Given the description of an element on the screen output the (x, y) to click on. 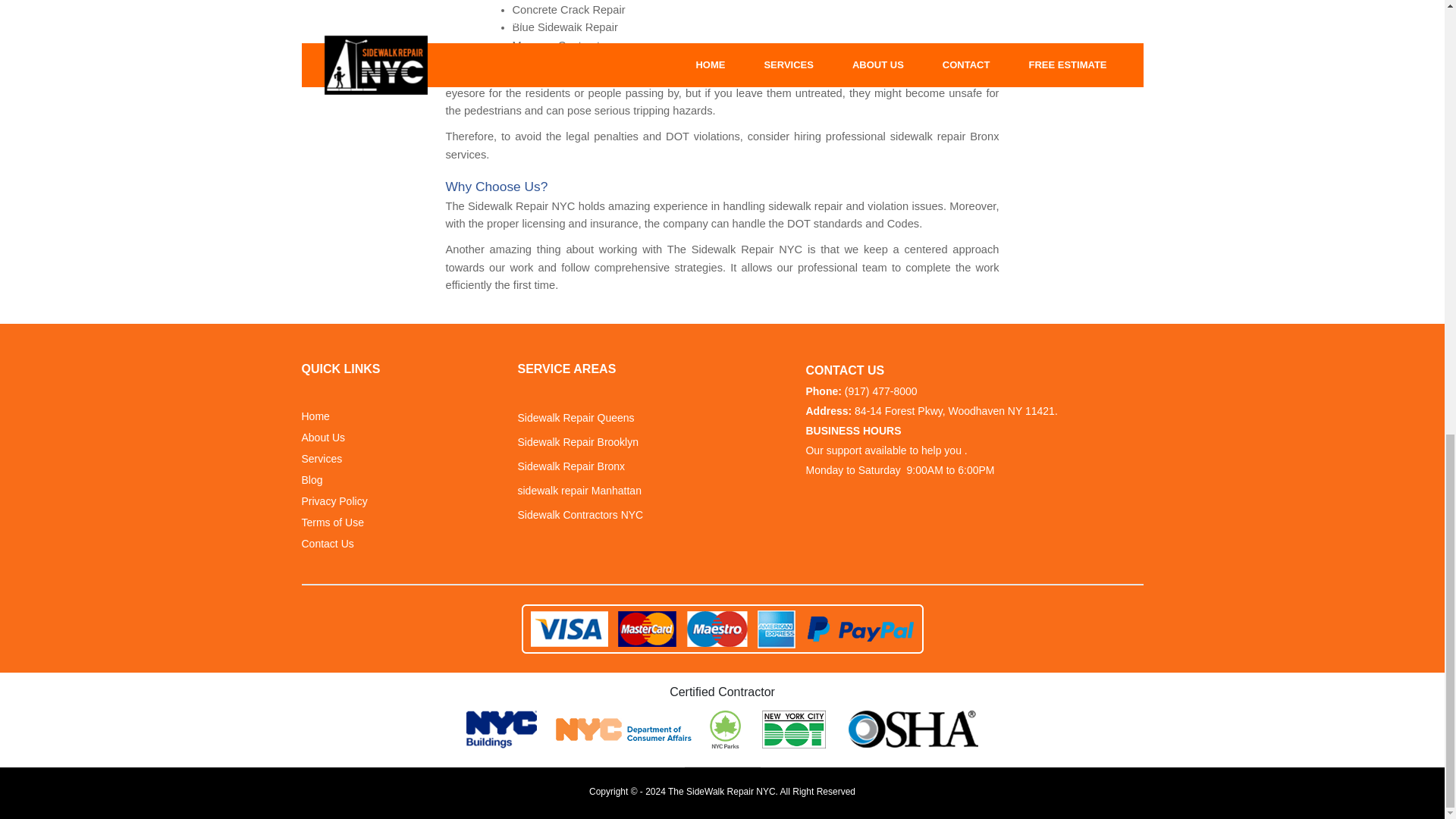
Terms of Use (332, 522)
Home (315, 416)
Sidewalk Repair Queens (574, 417)
Privacy Policy (334, 501)
Sidewalk Contractors NYC (579, 514)
Sidewalk Repair Bronx (570, 466)
sidewalk repair Manhattan (578, 490)
Sidewalk Repair Brooklyn (577, 442)
84-14 Forest Pkwy, Woodhaven NY 11421 (954, 411)
Blog (312, 480)
Services (321, 458)
About Us (323, 437)
Contact Us (327, 544)
